Given the description of an element on the screen output the (x, y) to click on. 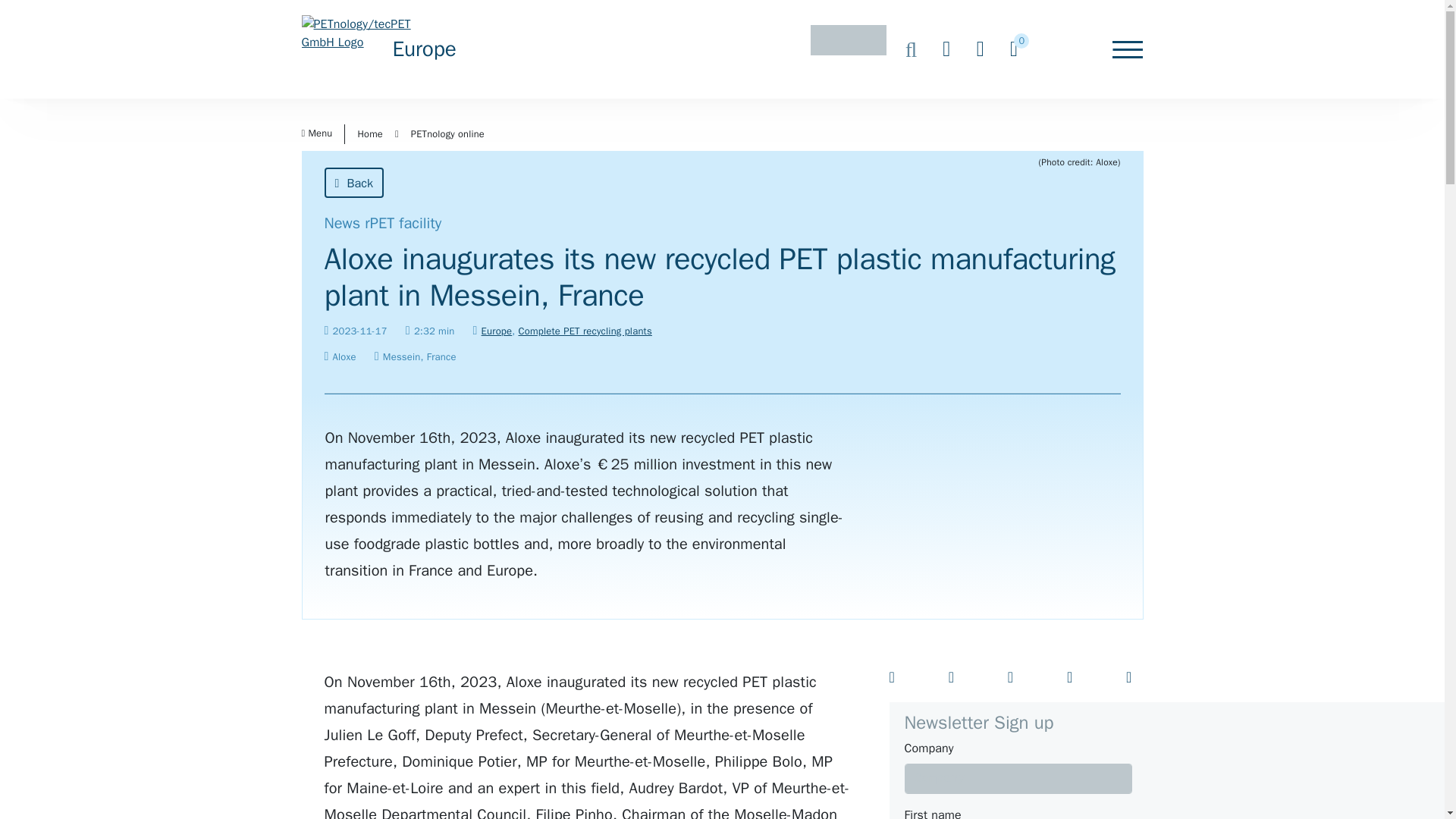
Home (369, 133)
Complete PET recycling plants (584, 330)
Back (354, 182)
Complete PET recycling plants (584, 330)
Europe (496, 330)
PETnology online (447, 133)
Europe (425, 49)
Europe (496, 330)
